Given the description of an element on the screen output the (x, y) to click on. 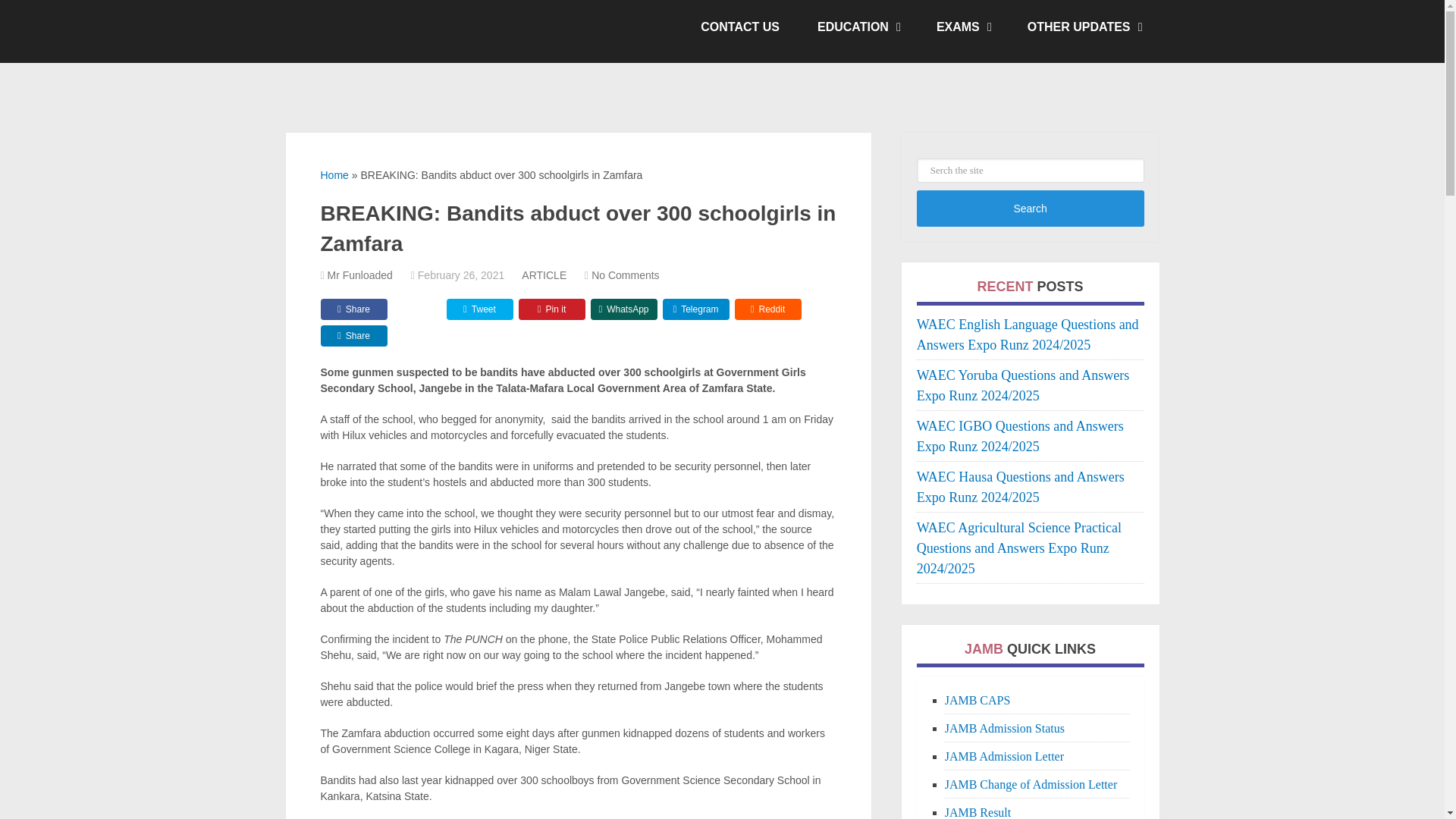
View all posts in ARTICLE (543, 275)
OTHER UPDATES (1083, 27)
EXAMS (963, 27)
CONTACT US (739, 27)
EDUCATION (857, 27)
Posts by Mr Funloaded (360, 275)
